Given the description of an element on the screen output the (x, y) to click on. 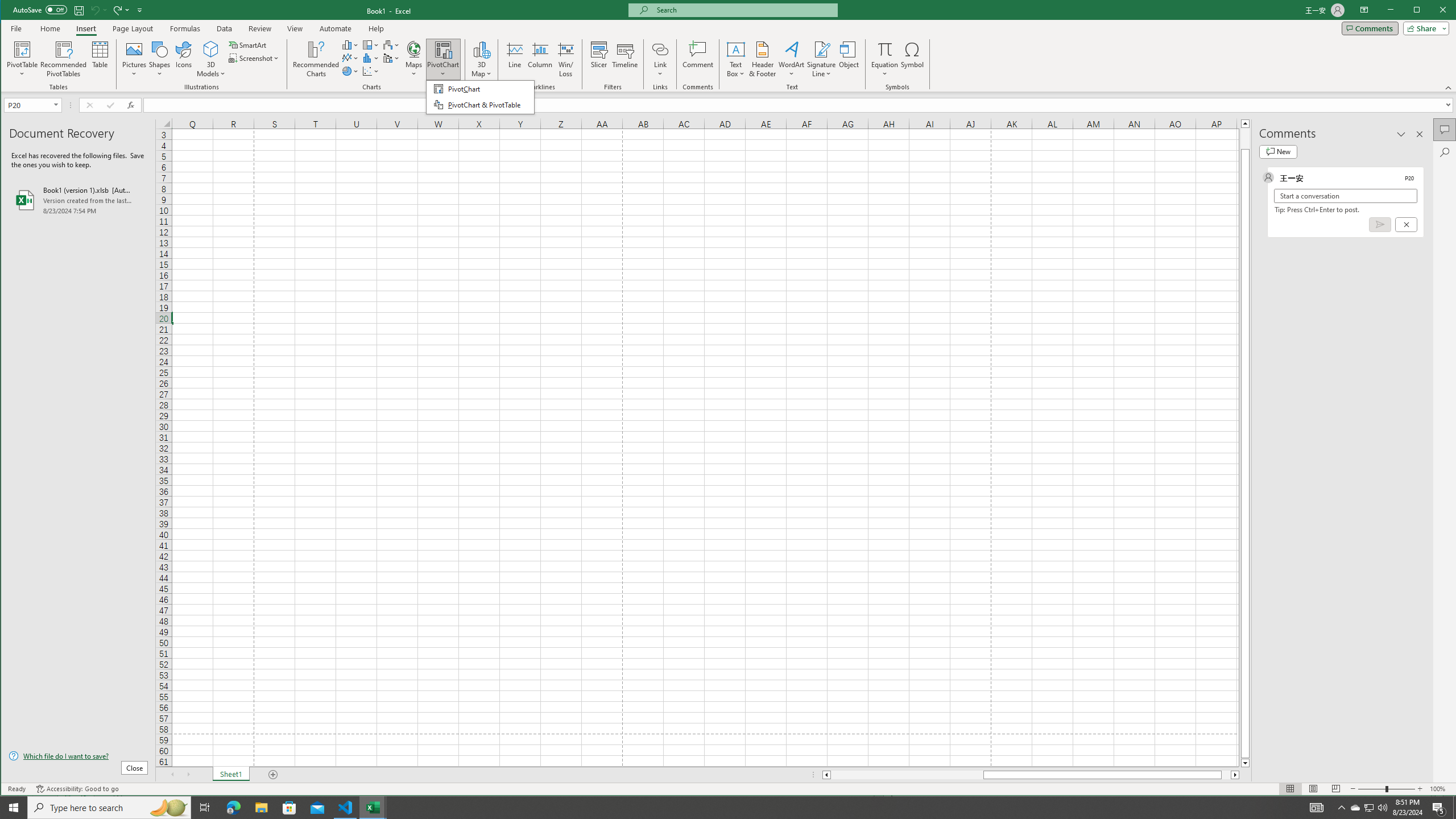
Task View (204, 807)
Slicer... (598, 59)
New comment (1278, 151)
